Given the description of an element on the screen output the (x, y) to click on. 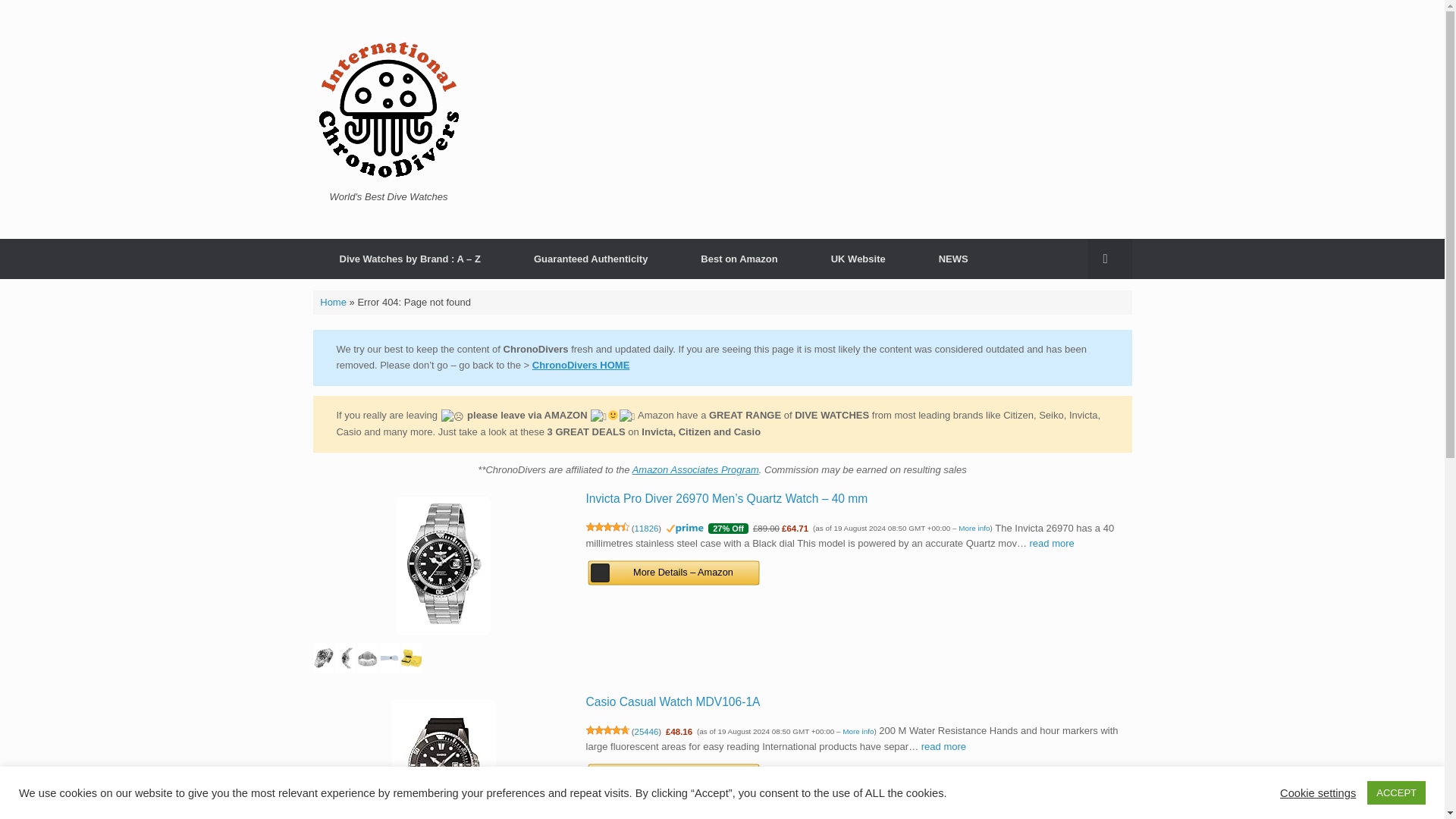
Best on Amazon (738, 258)
NEWS (953, 258)
Amazon Associates Program (694, 469)
ChronoDivers HOME (581, 365)
Guaranteed Authenticity (590, 258)
UK Website (858, 258)
Home (333, 301)
ChronoDivers International (388, 109)
